Given the description of an element on the screen output the (x, y) to click on. 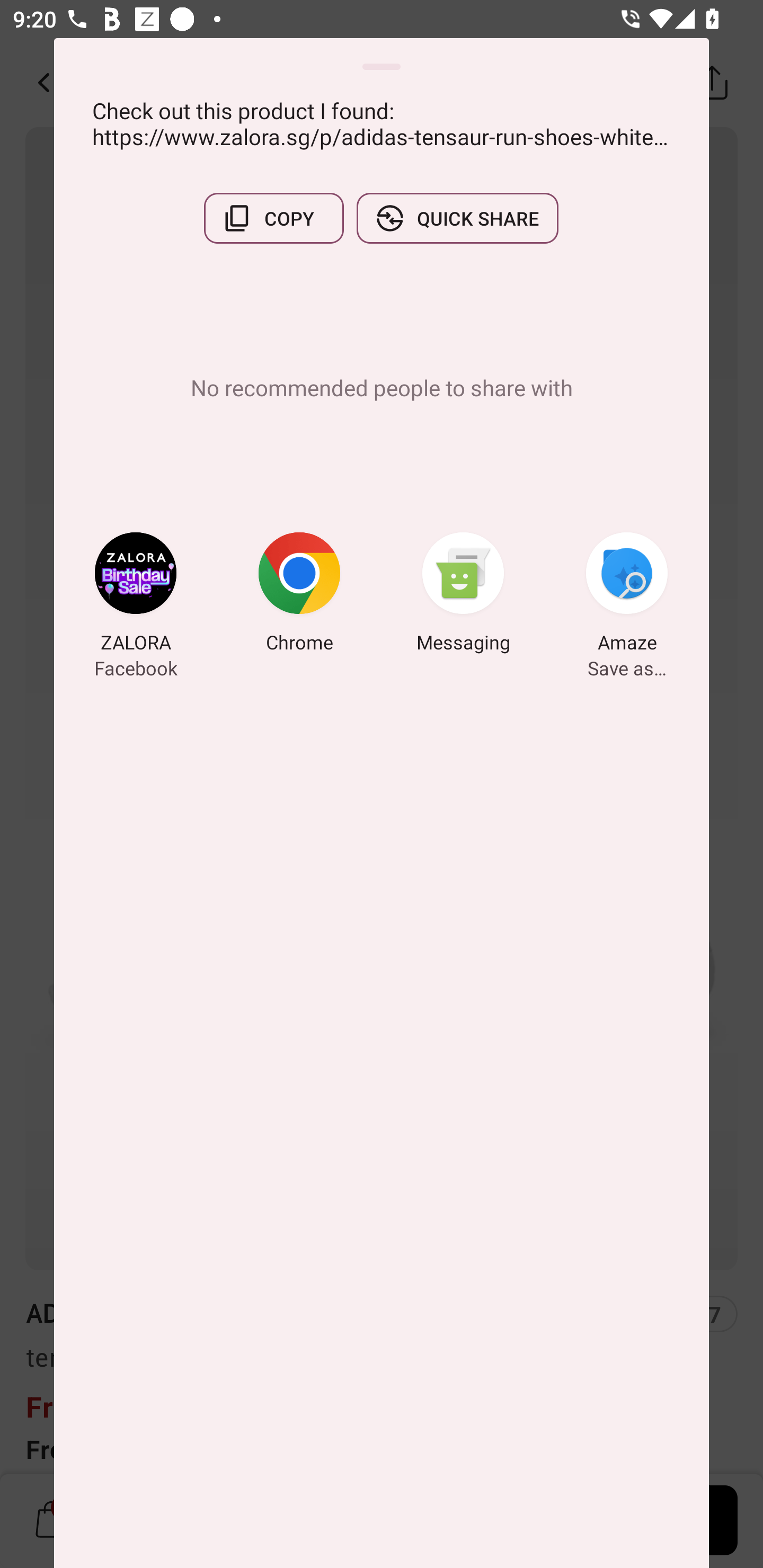
COPY (273, 218)
QUICK SHARE (457, 218)
ZALORA Facebook (135, 594)
Chrome (299, 594)
Messaging (463, 594)
Amaze Save as… (626, 594)
